Given the description of an element on the screen output the (x, y) to click on. 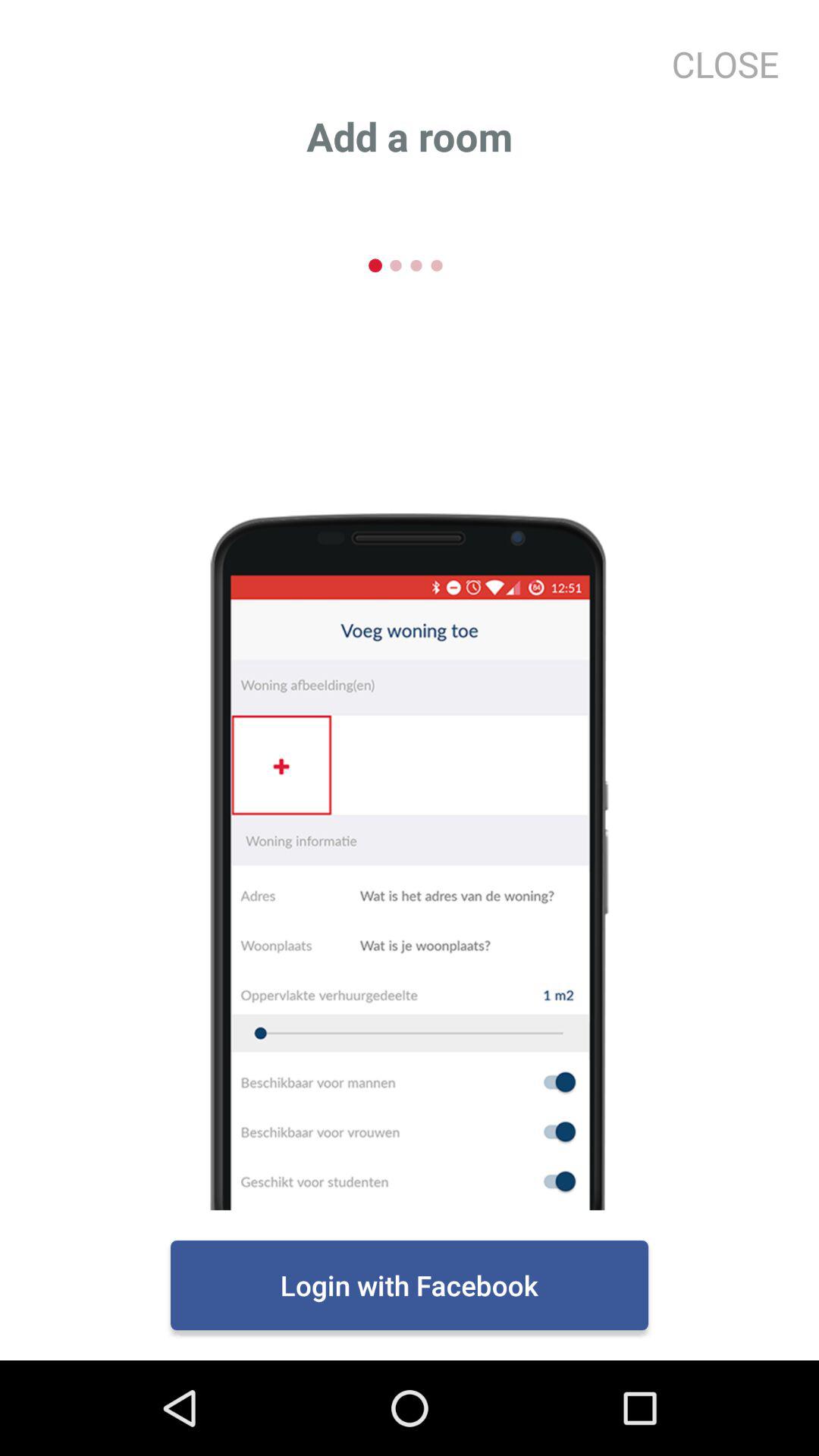
launch close at the top right corner (719, 63)
